Given the description of an element on the screen output the (x, y) to click on. 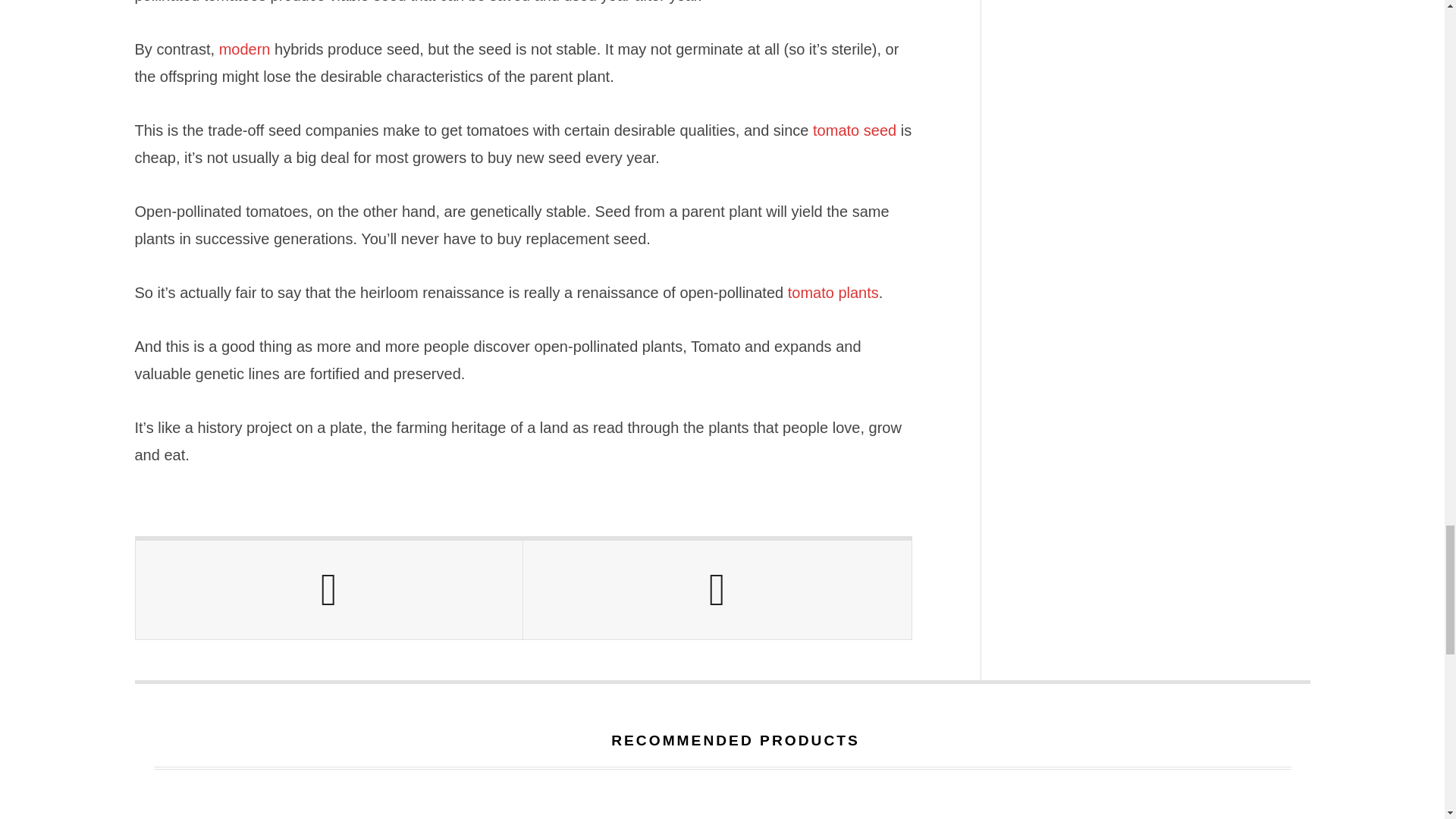
Previous Post (328, 589)
modern (244, 48)
Next Post (716, 589)
tomato seed (854, 130)
